Given the description of an element on the screen output the (x, y) to click on. 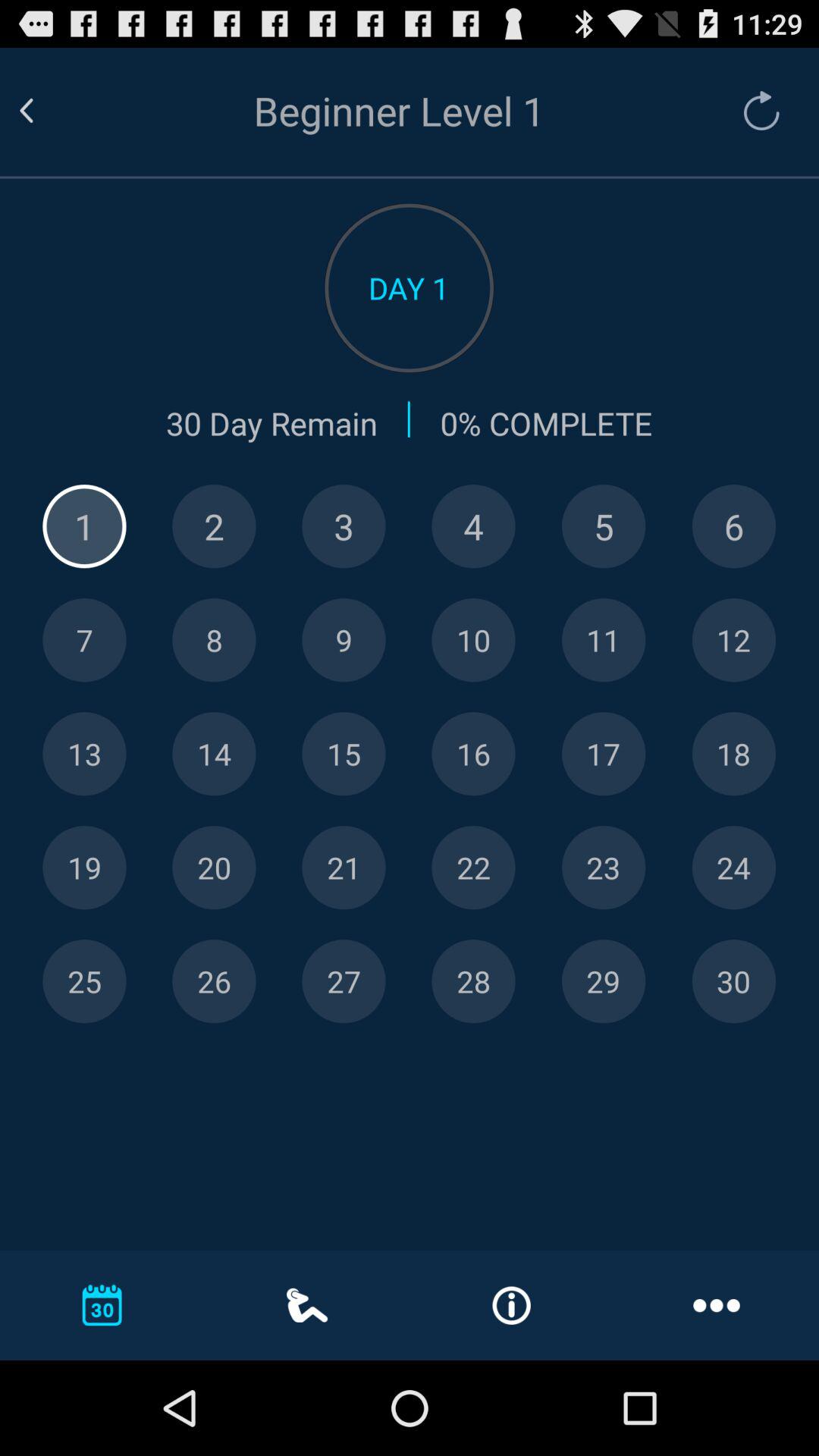
date selection (733, 639)
